Given the description of an element on the screen output the (x, y) to click on. 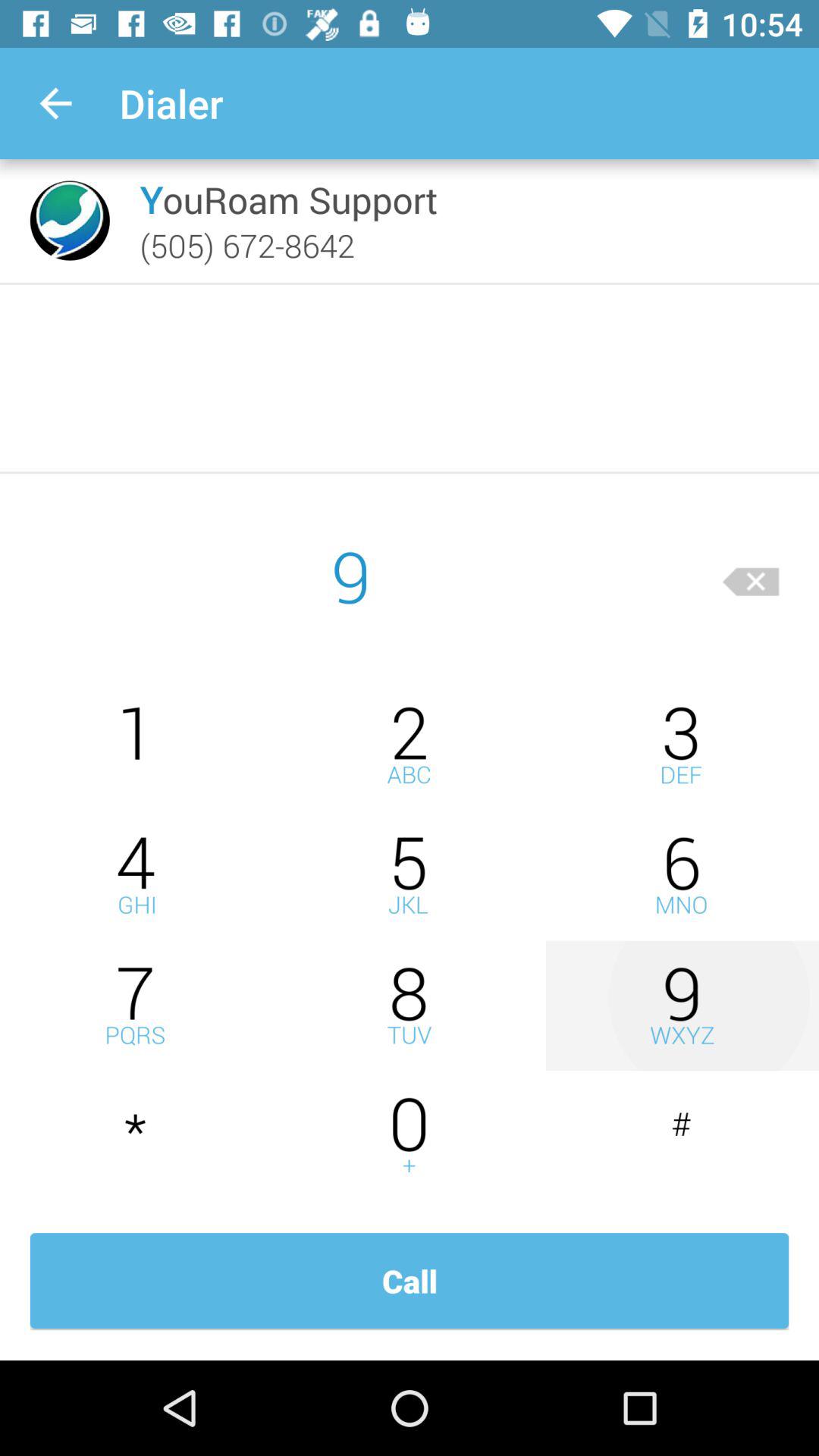
choose item below dialer item (288, 199)
